Given the description of an element on the screen output the (x, y) to click on. 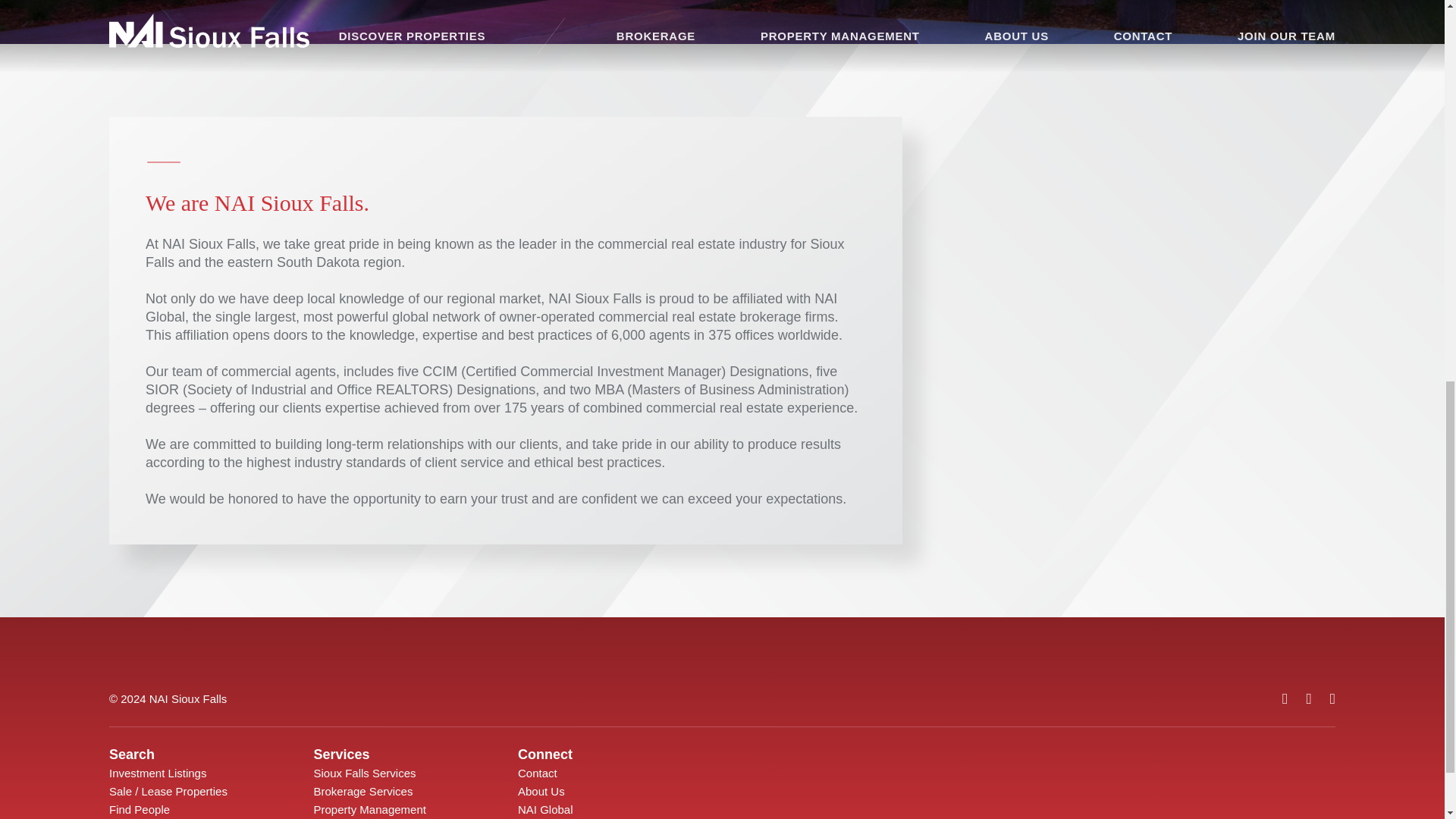
Sioux Falls Services (365, 772)
Property Management (370, 809)
Services (341, 754)
Find People (139, 809)
Contact (537, 772)
About Us (541, 790)
Brokerage Services (363, 790)
Connect (545, 754)
Investment Listings (157, 772)
Search (131, 754)
